Given the description of an element on the screen output the (x, y) to click on. 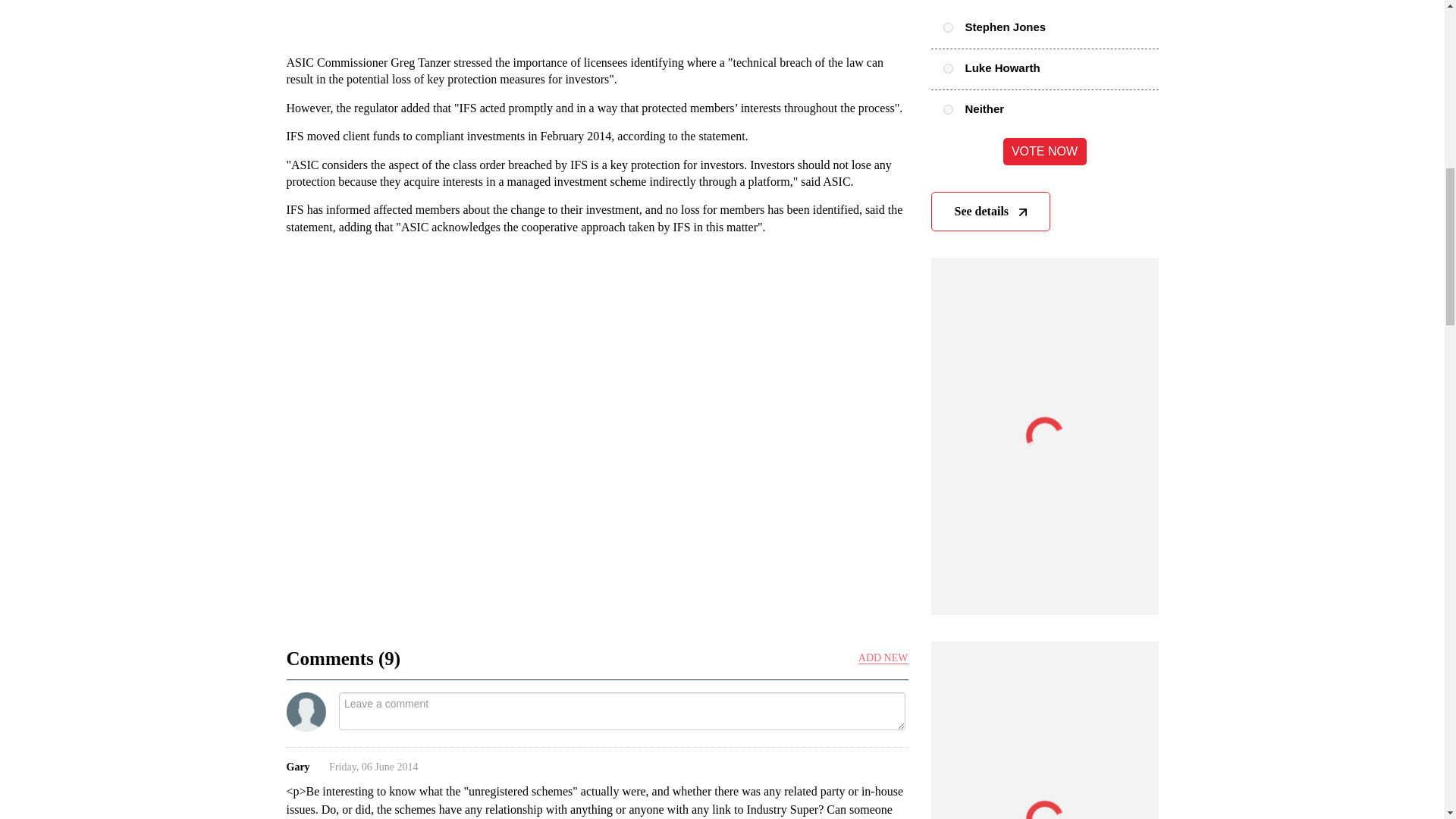
1 (948, 68)
2 (948, 109)
Add New (883, 658)
0 (948, 27)
